Given the description of an element on the screen output the (x, y) to click on. 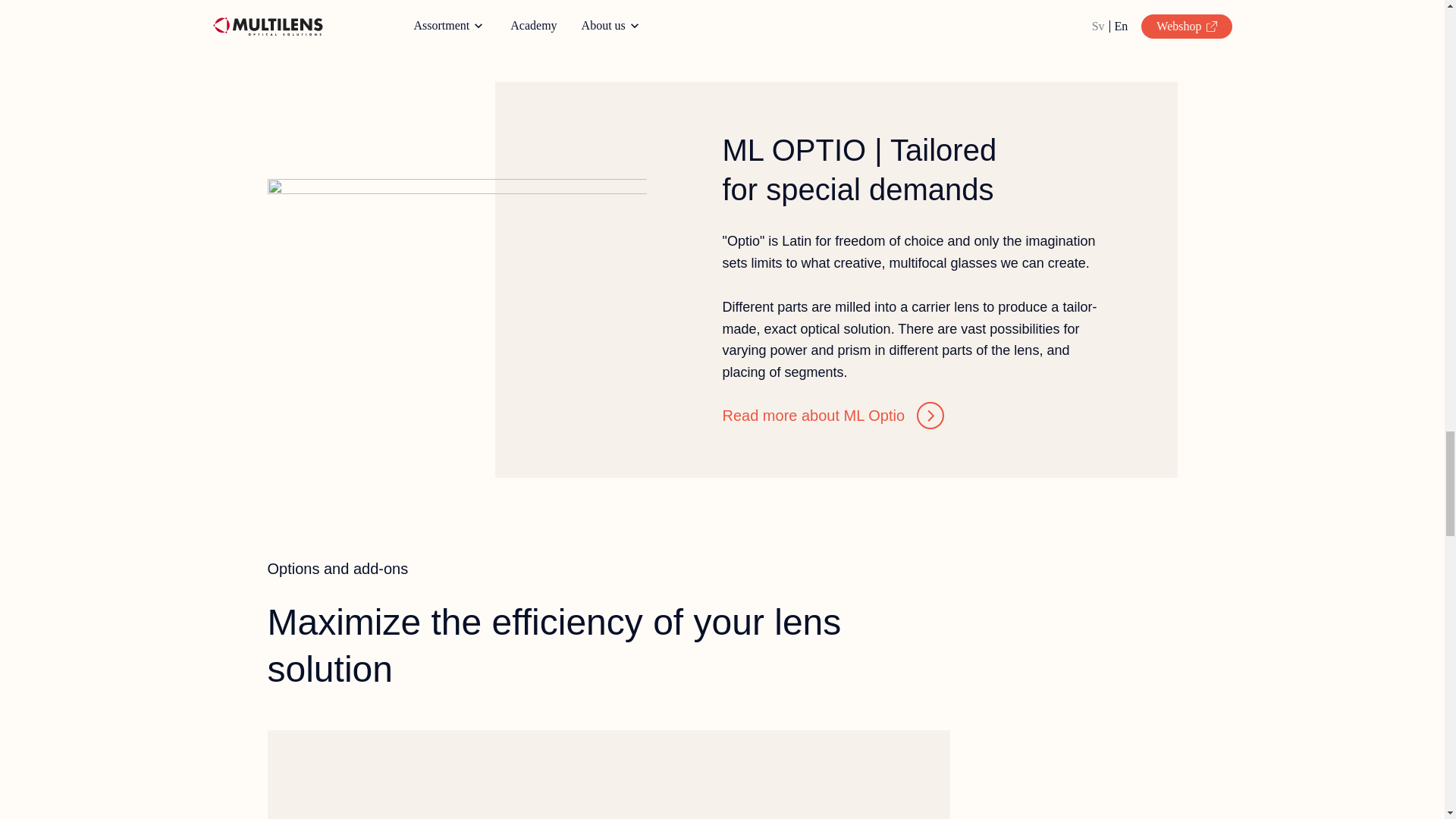
Read more about ML Optio (832, 415)
